Given the description of an element on the screen output the (x, y) to click on. 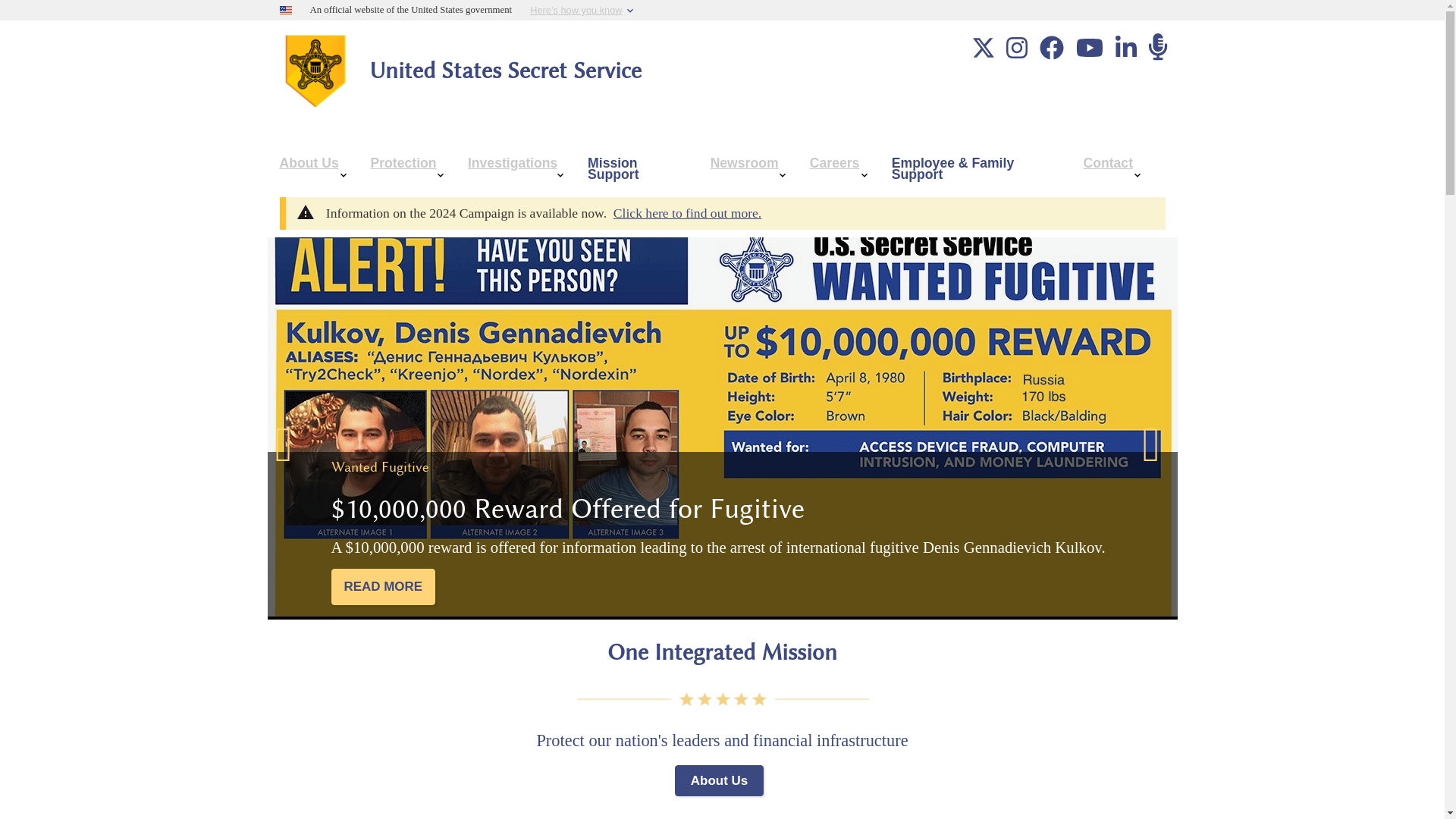
Mission Support (636, 169)
Pause (743, 417)
Menu (291, 124)
READ MORE (382, 586)
 Go to United States Secret Service home page (496, 69)
About Us (312, 169)
Contact (1112, 169)
United States Secret Service (496, 69)
Careers (838, 169)
Newsroom (747, 169)
